Given the description of an element on the screen output the (x, y) to click on. 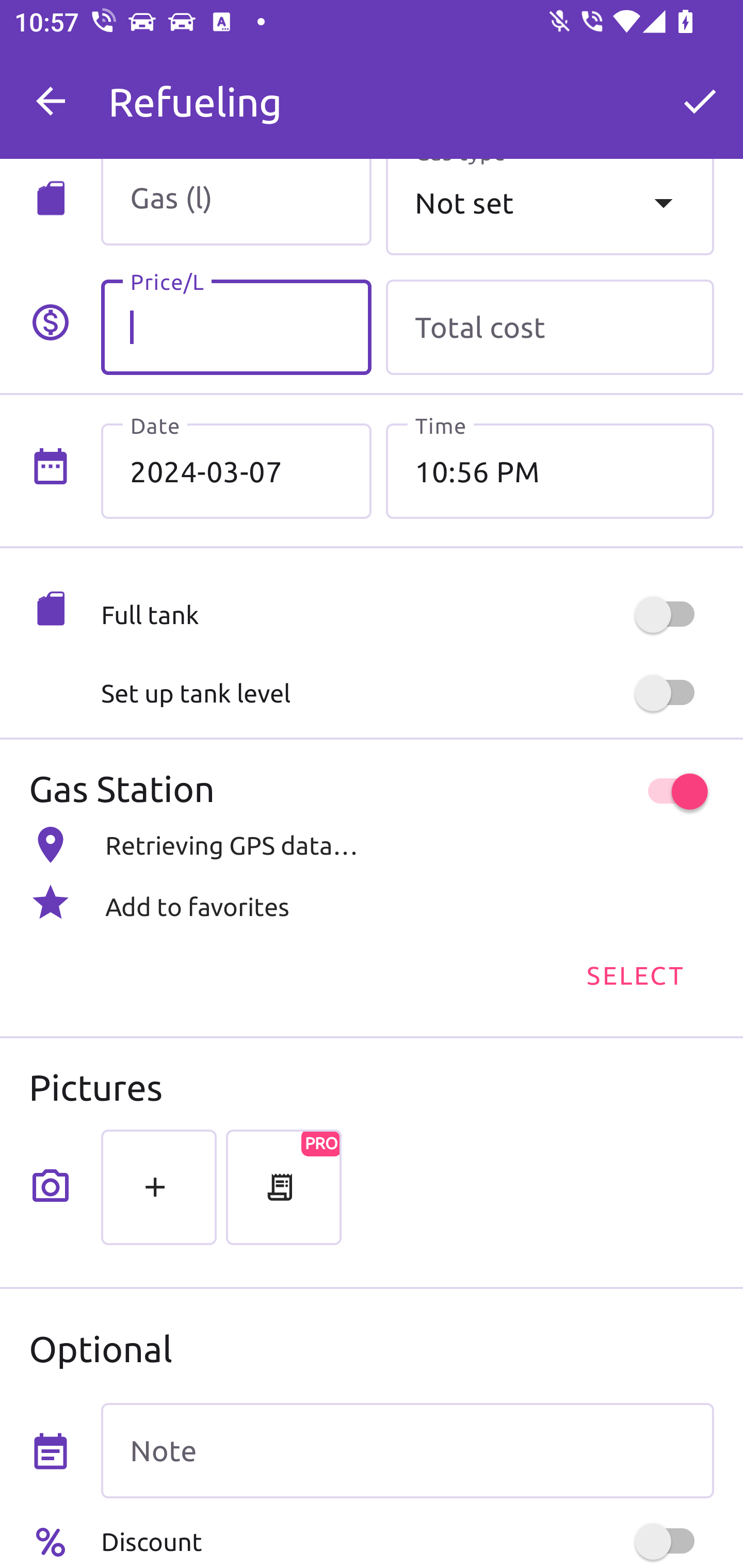
M My Car 0 km (407, 92)
Navigate up (50, 101)
OK (699, 101)
Gas (l) (236, 202)
Not set (549, 206)
Price/L (236, 326)
Total cost  (549, 326)
2024-03-07 (236, 471)
10:56 PM (549, 471)
Full tank (407, 614)
Set up tank level (407, 692)
Add to favorites (371, 902)
SELECT (634, 974)
Note (407, 1451)
Discount (407, 1541)
